Given the description of an element on the screen output the (x, y) to click on. 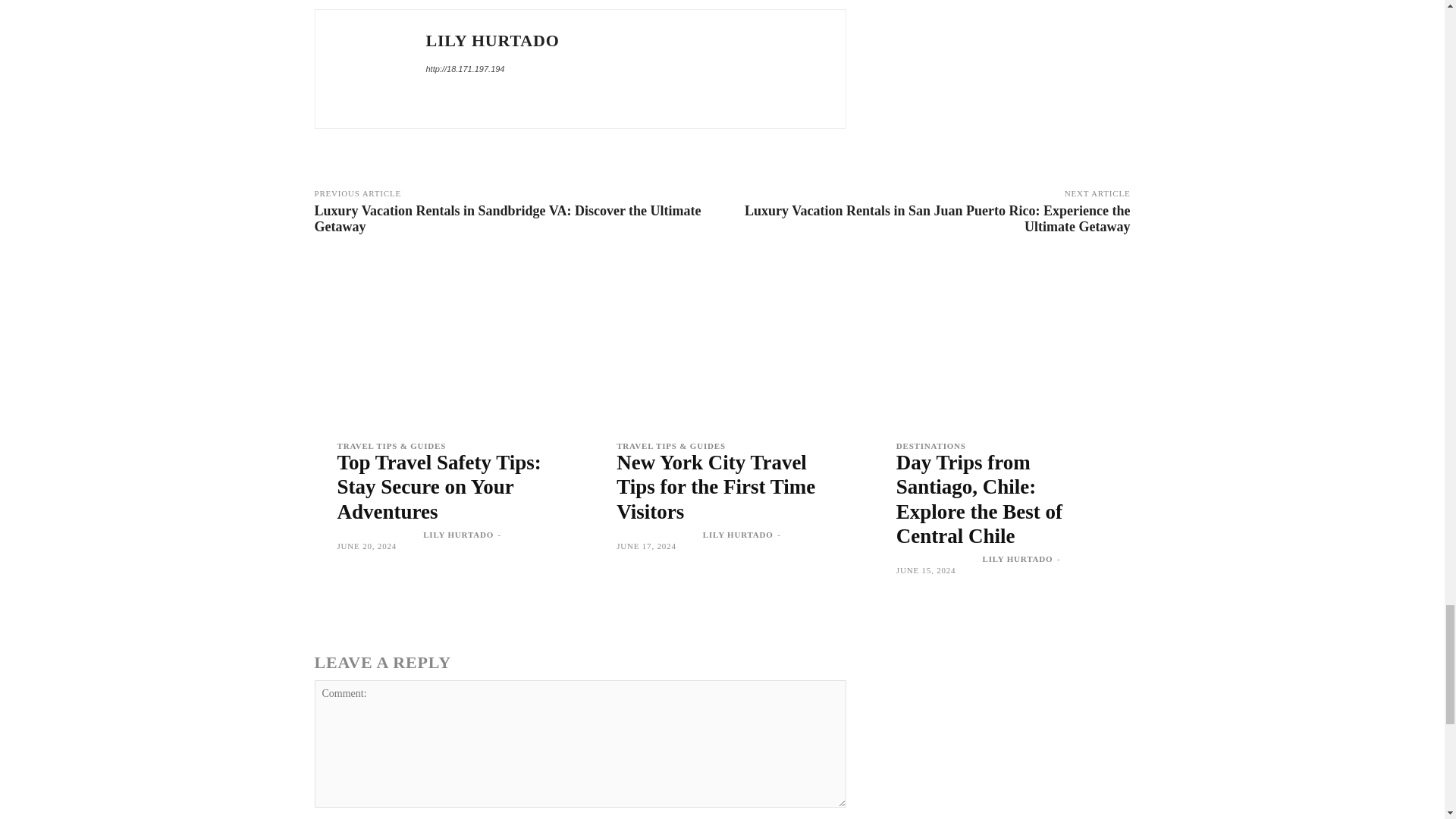
Lily Hurtado (369, 68)
